Given the description of an element on the screen output the (x, y) to click on. 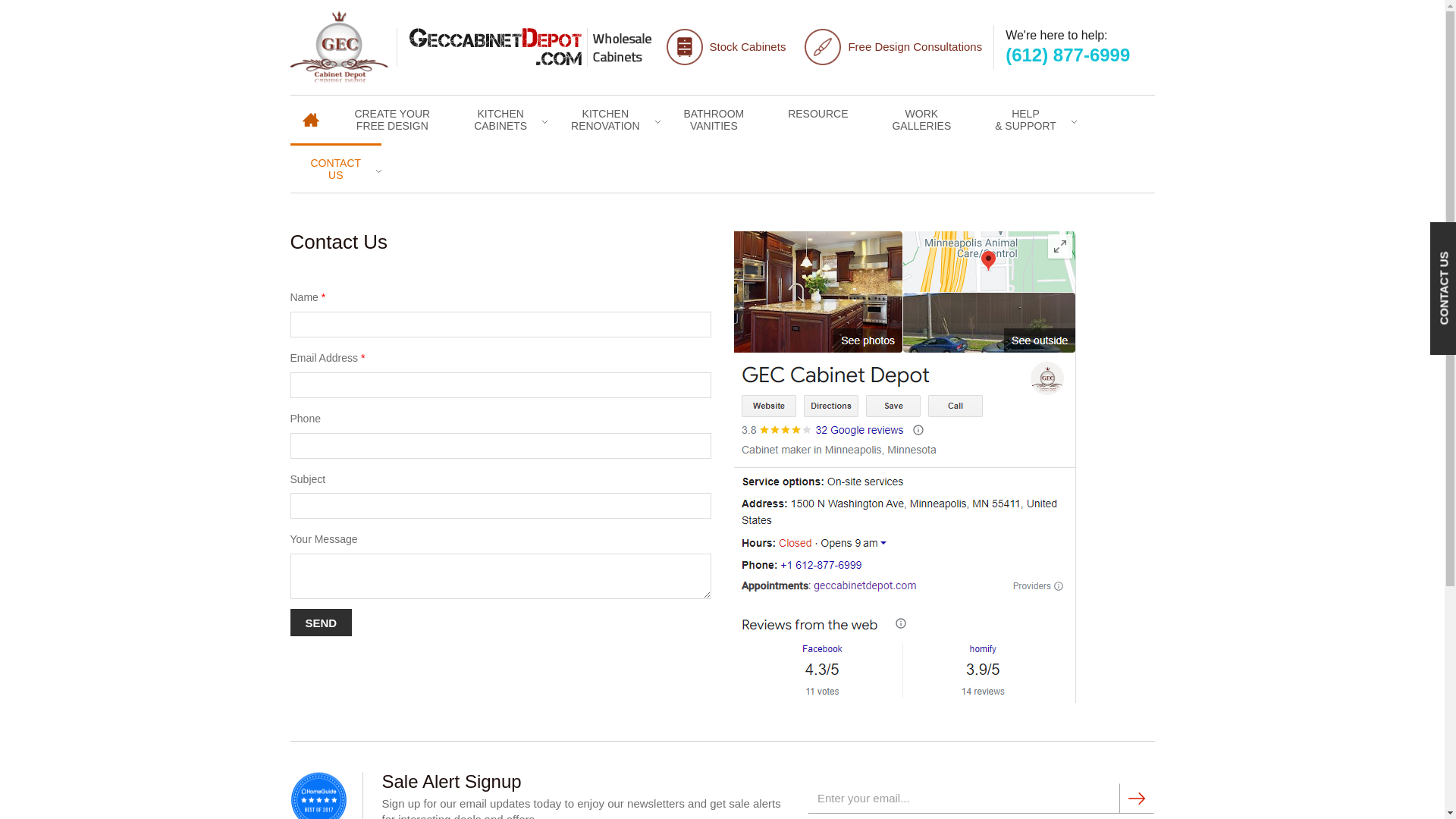
Send (320, 622)
Send (1136, 798)
Send (713, 118)
HOME (920, 118)
RESOURCE (499, 118)
Send (391, 118)
